Given the description of an element on the screen output the (x, y) to click on. 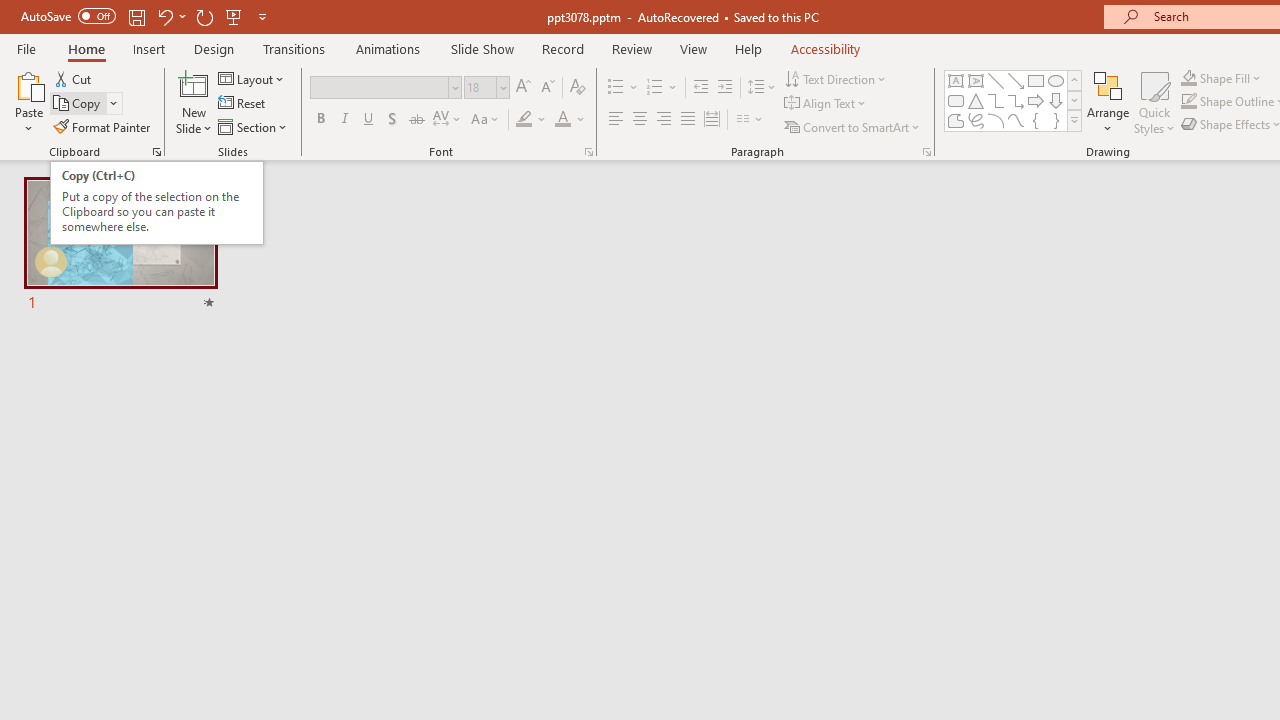
Save (136, 15)
Strikethrough (416, 119)
Bullets (623, 87)
Arrow: Right (1035, 100)
Numbering (654, 87)
Vertical Text Box (975, 80)
Arrow: Down (1055, 100)
Text Highlight Color (531, 119)
Font Color (569, 119)
Freeform: Scribble (975, 120)
Font... (588, 151)
Paste (28, 84)
